Given the description of an element on the screen output the (x, y) to click on. 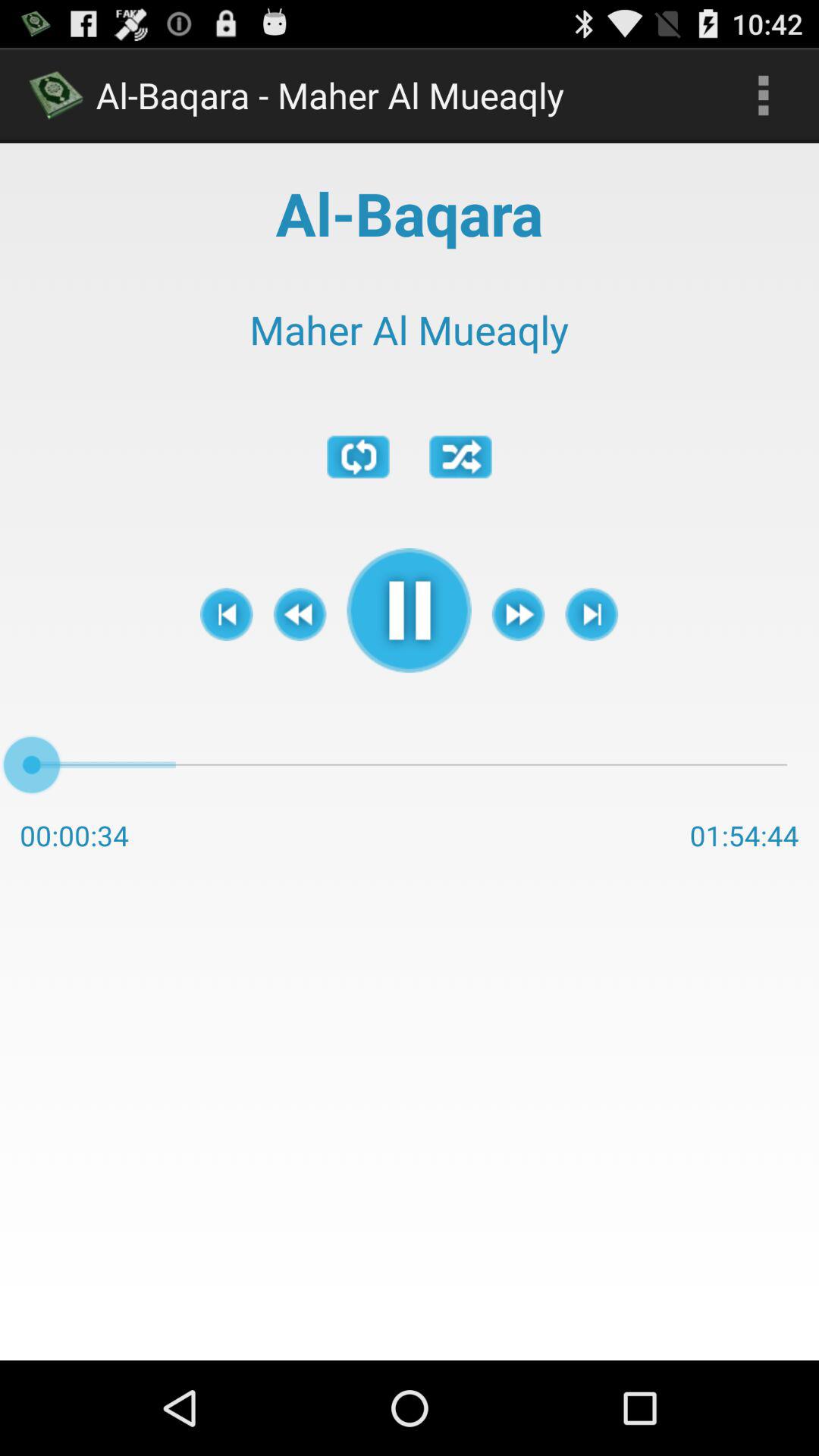
select item below maher al mueaqly item (591, 614)
